Given the description of an element on the screen output the (x, y) to click on. 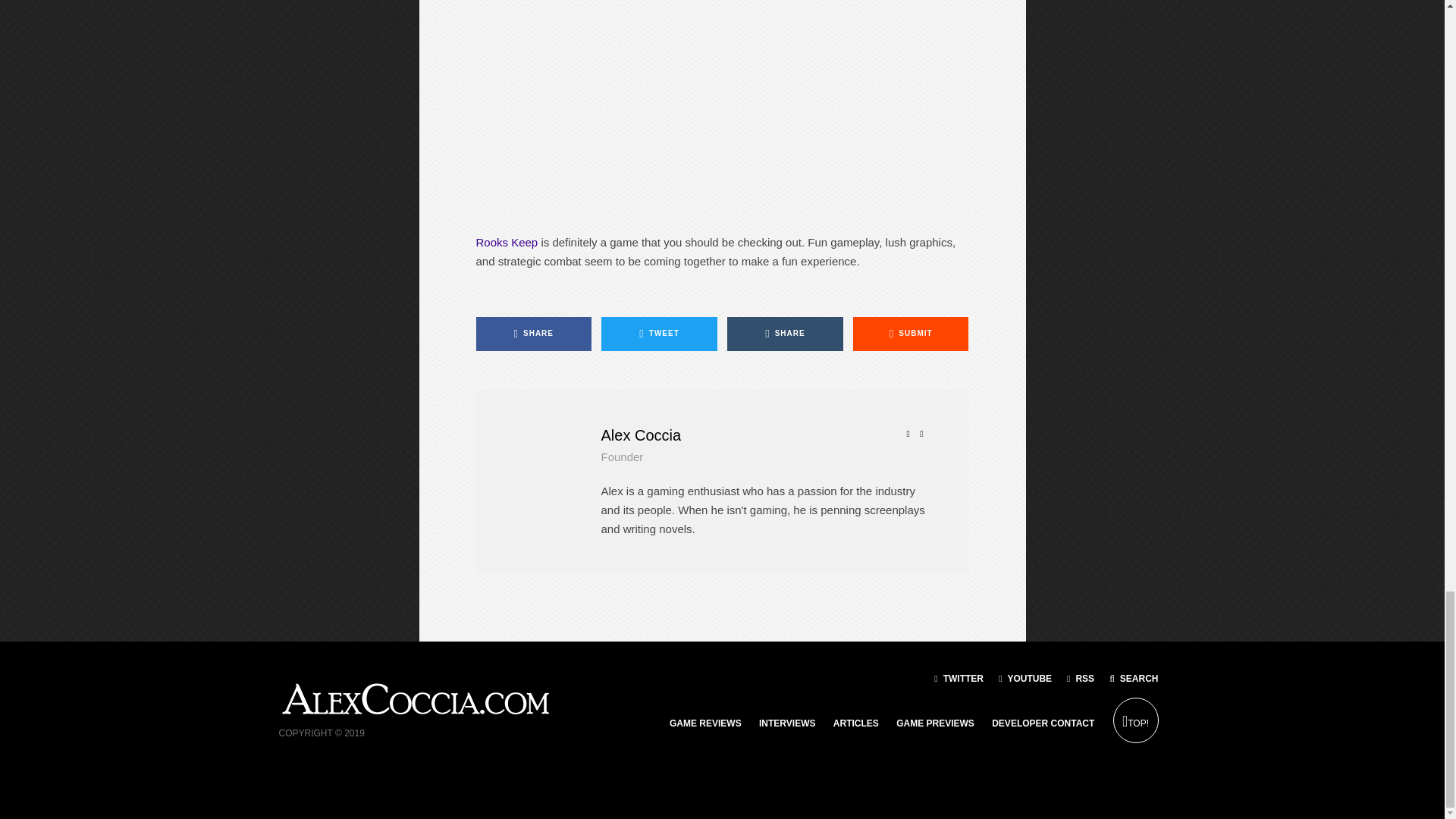
Rooks Keep on Steam Greenlight (507, 241)
